Given the description of an element on the screen output the (x, y) to click on. 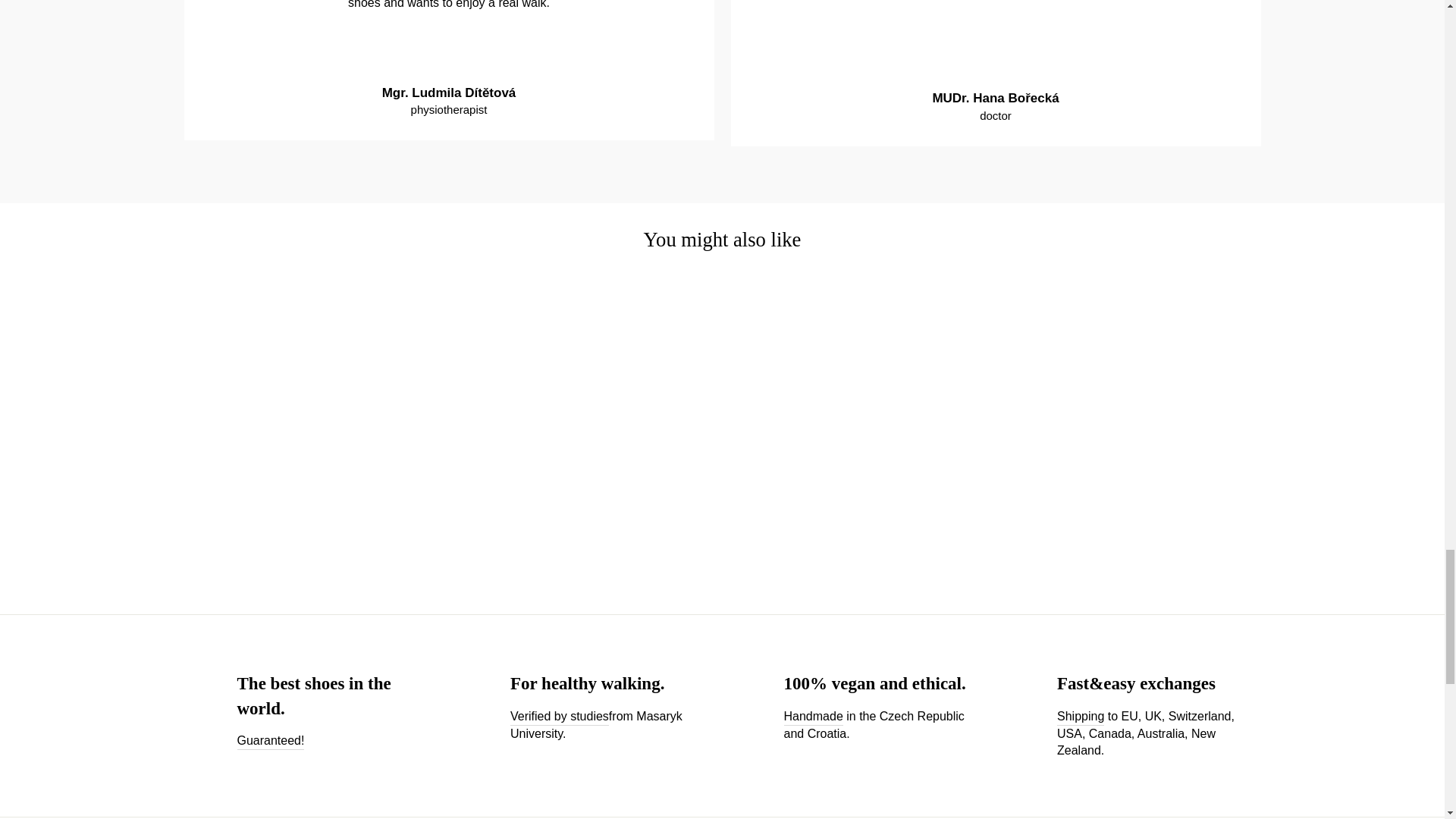
Shipping Policy (1080, 716)
What are Ahinsa shoes made of? (813, 716)
Barefoot shoes (559, 716)
